Given the description of an element on the screen output the (x, y) to click on. 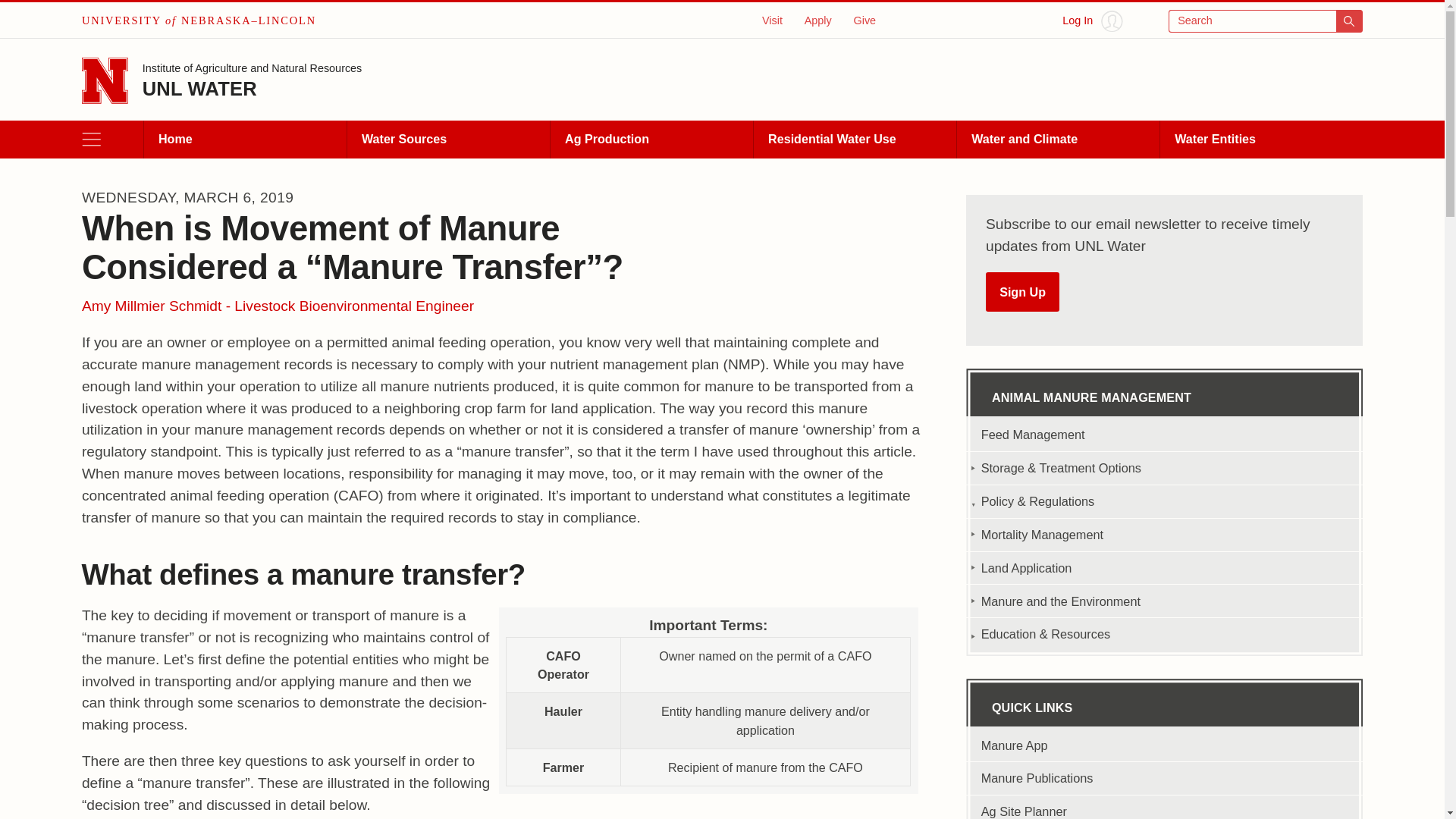
UNL WATER (199, 88)
Apply (818, 20)
Water and Climate (1057, 139)
Give (864, 20)
Water Sources (448, 139)
Ag Production (651, 139)
Visit (772, 20)
Home (244, 139)
Institute of Agriculture and Natural Resources (252, 69)
Residential Water Use (854, 139)
